Given the description of an element on the screen output the (x, y) to click on. 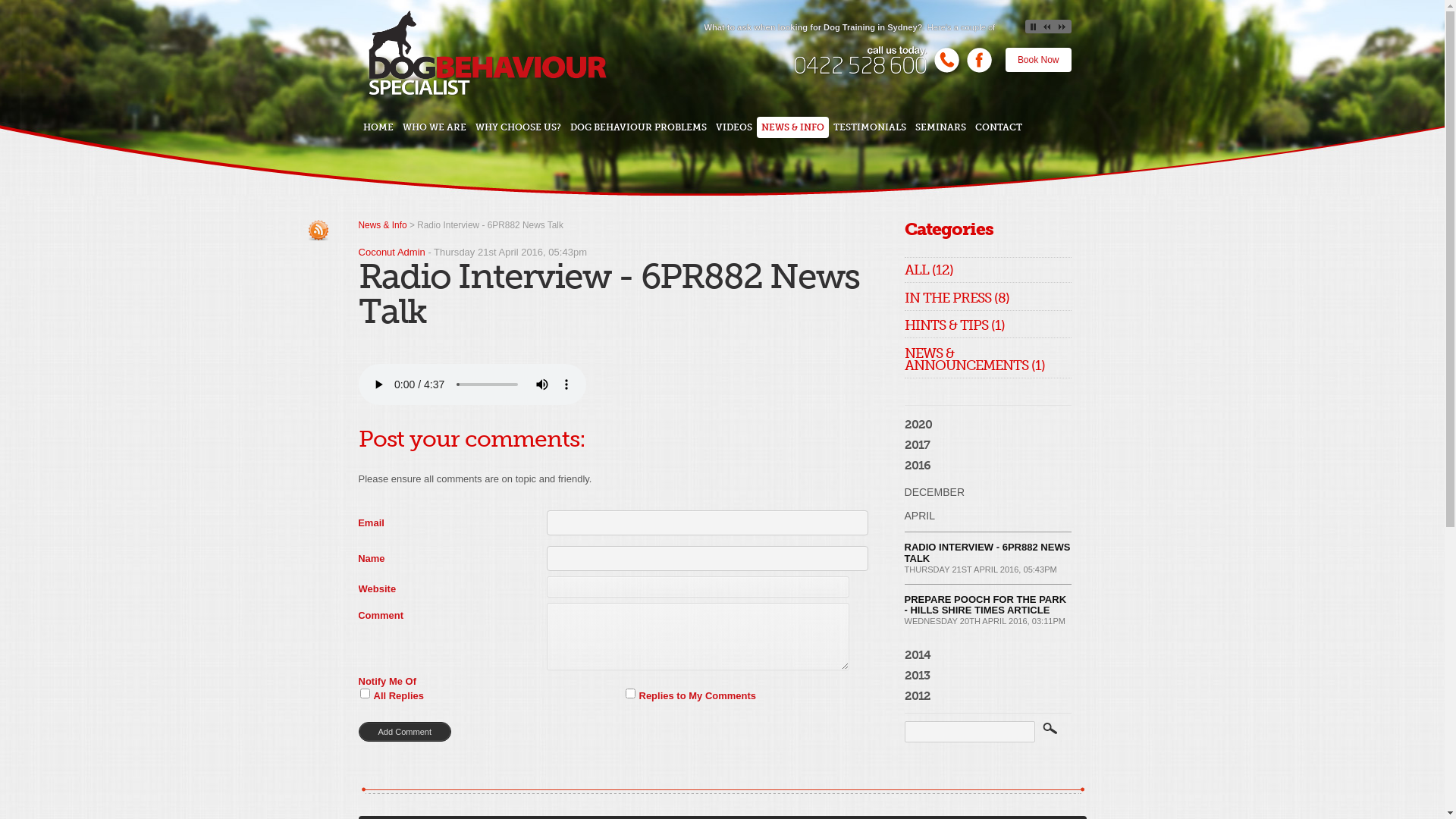
Pause Element type: text (1033, 26)
Previous Element type: text (1047, 26)
Contact Dog Behaviour Specialist Element type: hover (946, 71)
News & Info Element type: text (381, 224)
HINTS & TIPS (1) Element type: text (953, 327)
Add Comment Element type: text (404, 731)
CONTACT Element type: text (998, 127)
IN THE PRESS (8) Element type: text (955, 300)
Search Element type: text (1050, 731)
Dog Behaviour Specialist Element type: hover (486, 93)
Twitter For Websites: Tweet Button Element type: hover (317, 267)
Book Now Element type: text (1038, 59)
DOG BEHAVIOUR PROBLEMS Element type: text (638, 127)
ALL (12) Element type: text (927, 272)
Next Element type: text (1062, 26)
Coconut Admin Element type: text (390, 251)
NEWS & ANNOUNCEMENTS (1) Element type: text (973, 362)
Subscribe to This Blog Element type: hover (318, 229)
TESTIMONIALS Element type: text (869, 127)
Facebook Element type: hover (979, 71)
VIDEOS Element type: text (733, 127)
NEWS & INFO Element type: text (792, 127)
HOME Element type: text (377, 127)
WHO WE ARE Element type: text (434, 127)
SEMINARS Element type: text (940, 127)
WHY CHOOSE US? Element type: text (517, 127)
What to ask when looking for Dog Training in Sydney? Element type: text (812, 26)
